Given the description of an element on the screen output the (x, y) to click on. 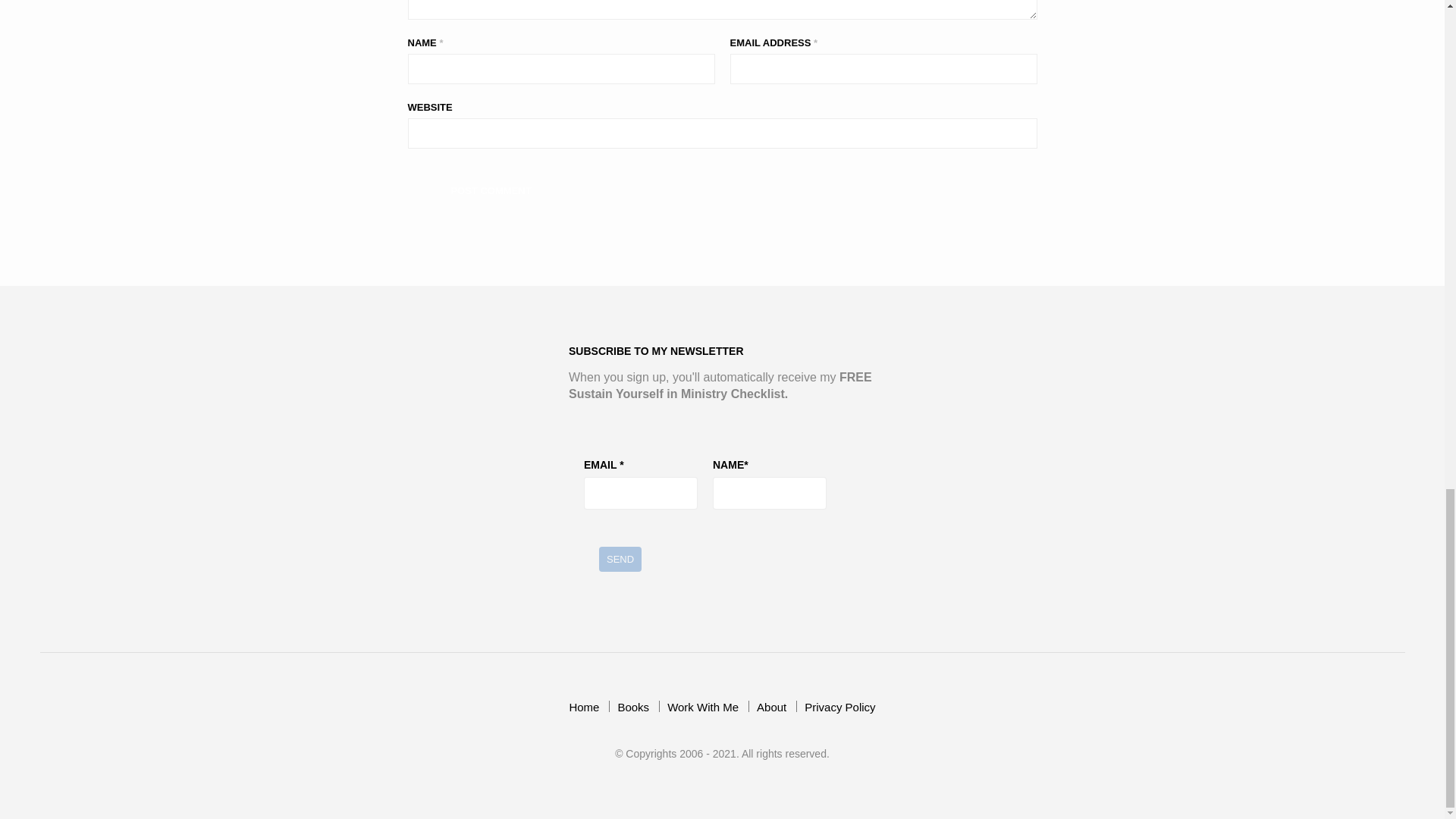
Home (583, 707)
SEND (620, 559)
Post Comment (491, 190)
About (771, 707)
Work With Me (702, 707)
Privacy Policy (840, 707)
Books (633, 707)
Post Comment (491, 190)
